Given the description of an element on the screen output the (x, y) to click on. 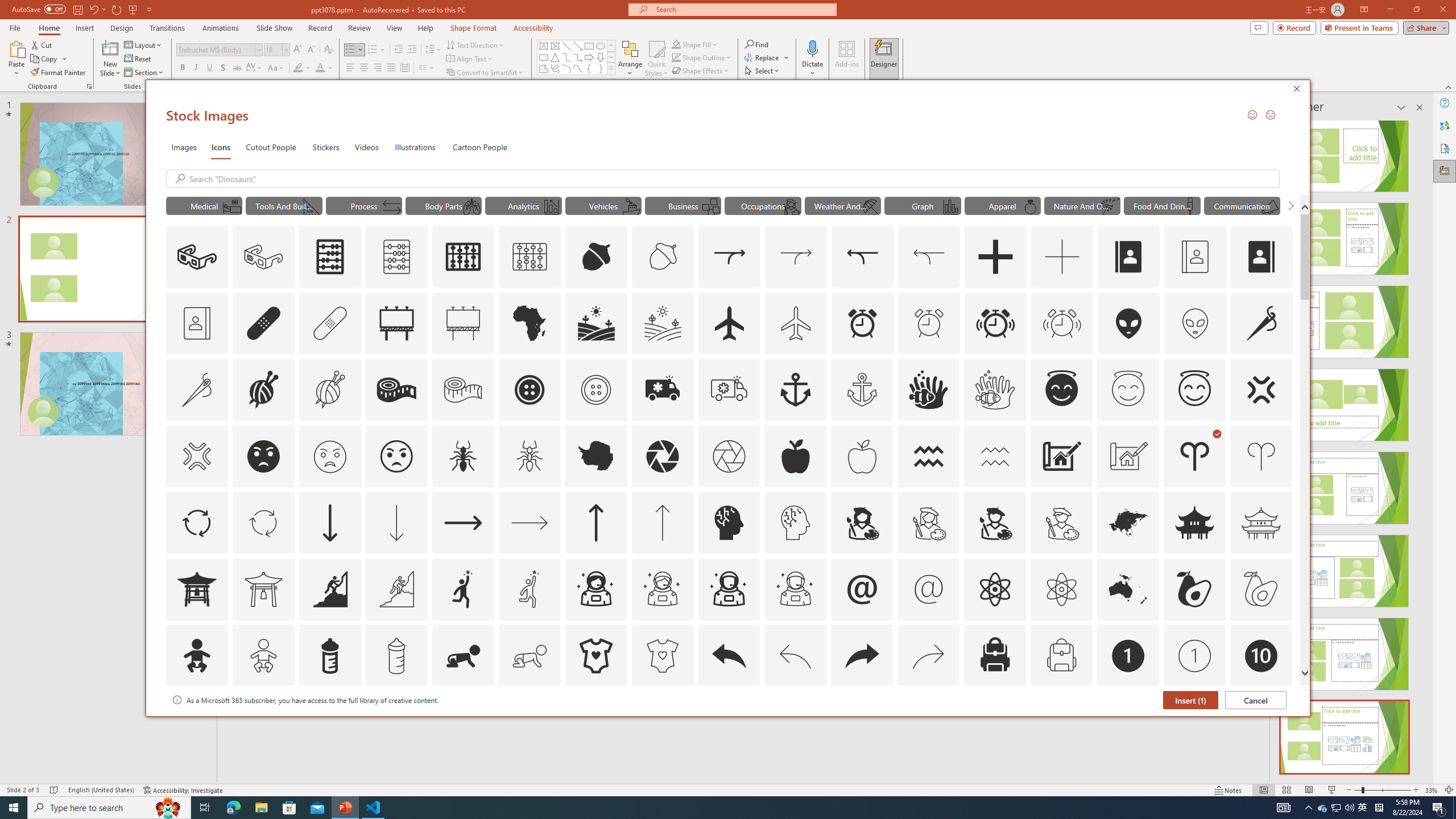
AutomationID: Icons_Abacus1 (462, 256)
AutomationID: Icons_AsianTemple1_M (263, 588)
AutomationID: Icons_AngryFace_M (329, 455)
